Given the description of an element on the screen output the (x, y) to click on. 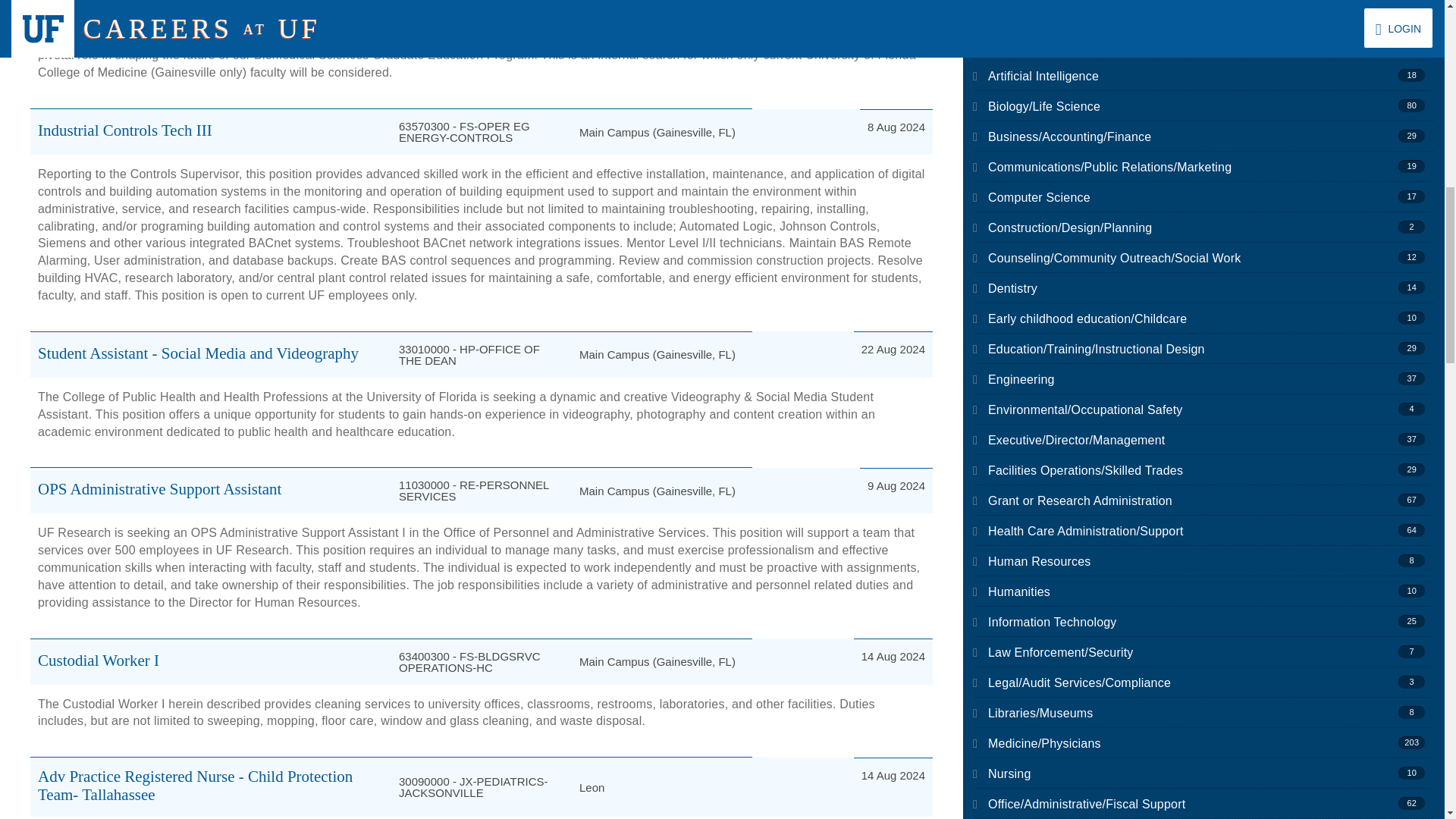
Industrial Controls Tech III (124, 130)
OPS Administrative Support Assistant (159, 488)
Custodial Worker I (97, 660)
Student Assistant - Social Media and Videography (197, 352)
